Given the description of an element on the screen output the (x, y) to click on. 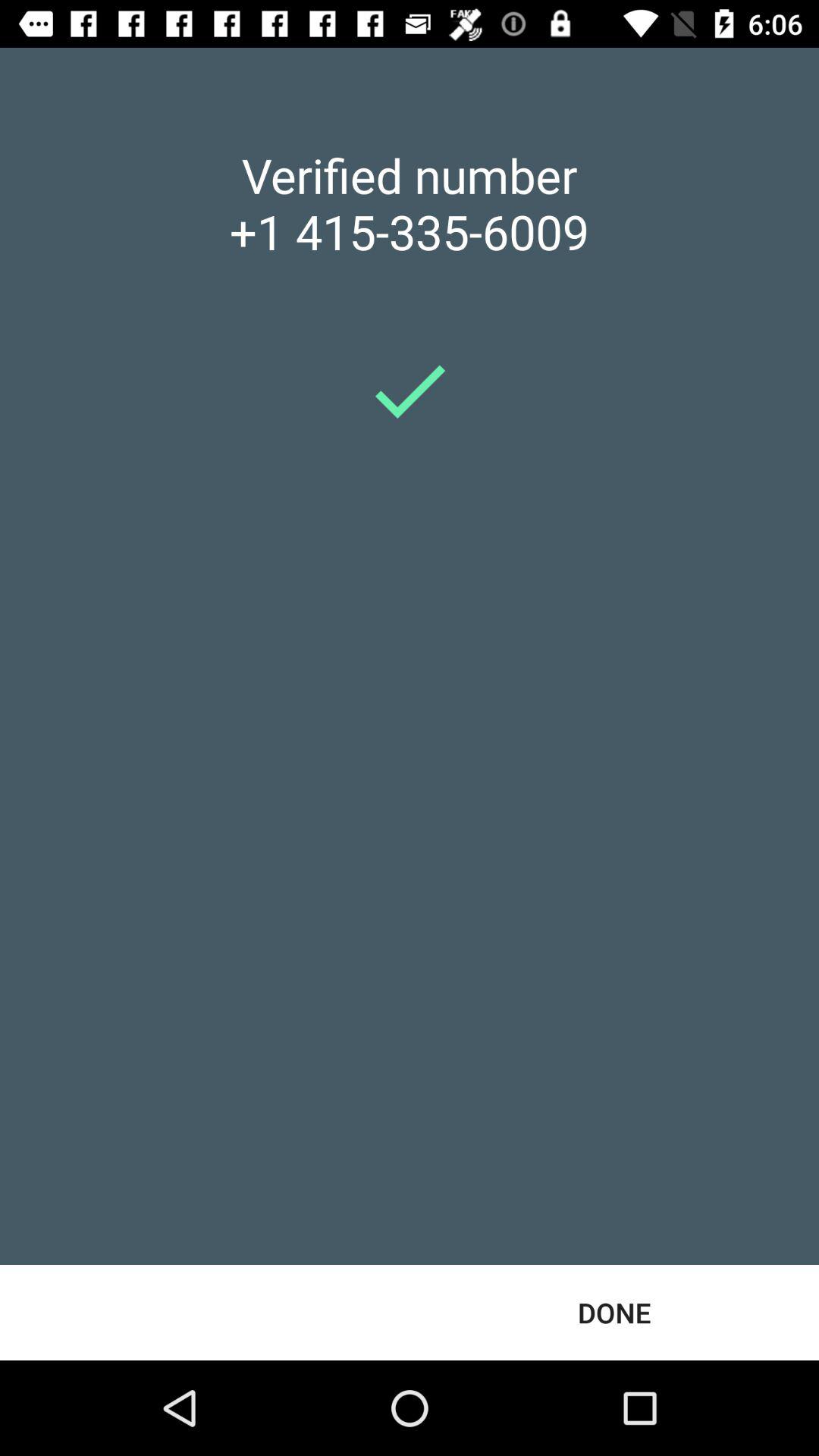
choose done at the bottom right corner (614, 1312)
